Given the description of an element on the screen output the (x, y) to click on. 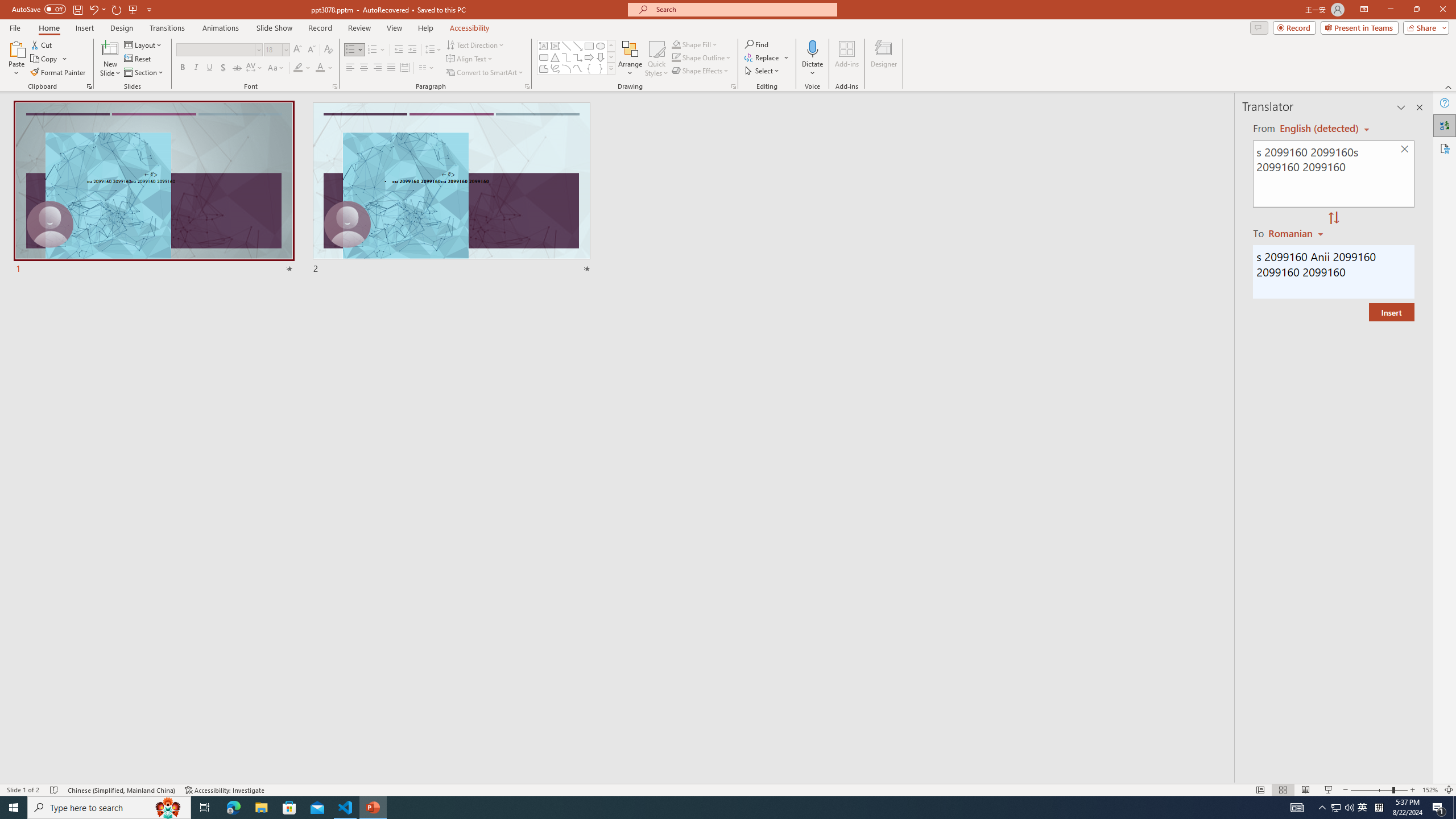
Shape Outline Green, Accent 1 (675, 56)
Clear text (1404, 149)
Czech (detected) (1319, 128)
